Given the description of an element on the screen output the (x, y) to click on. 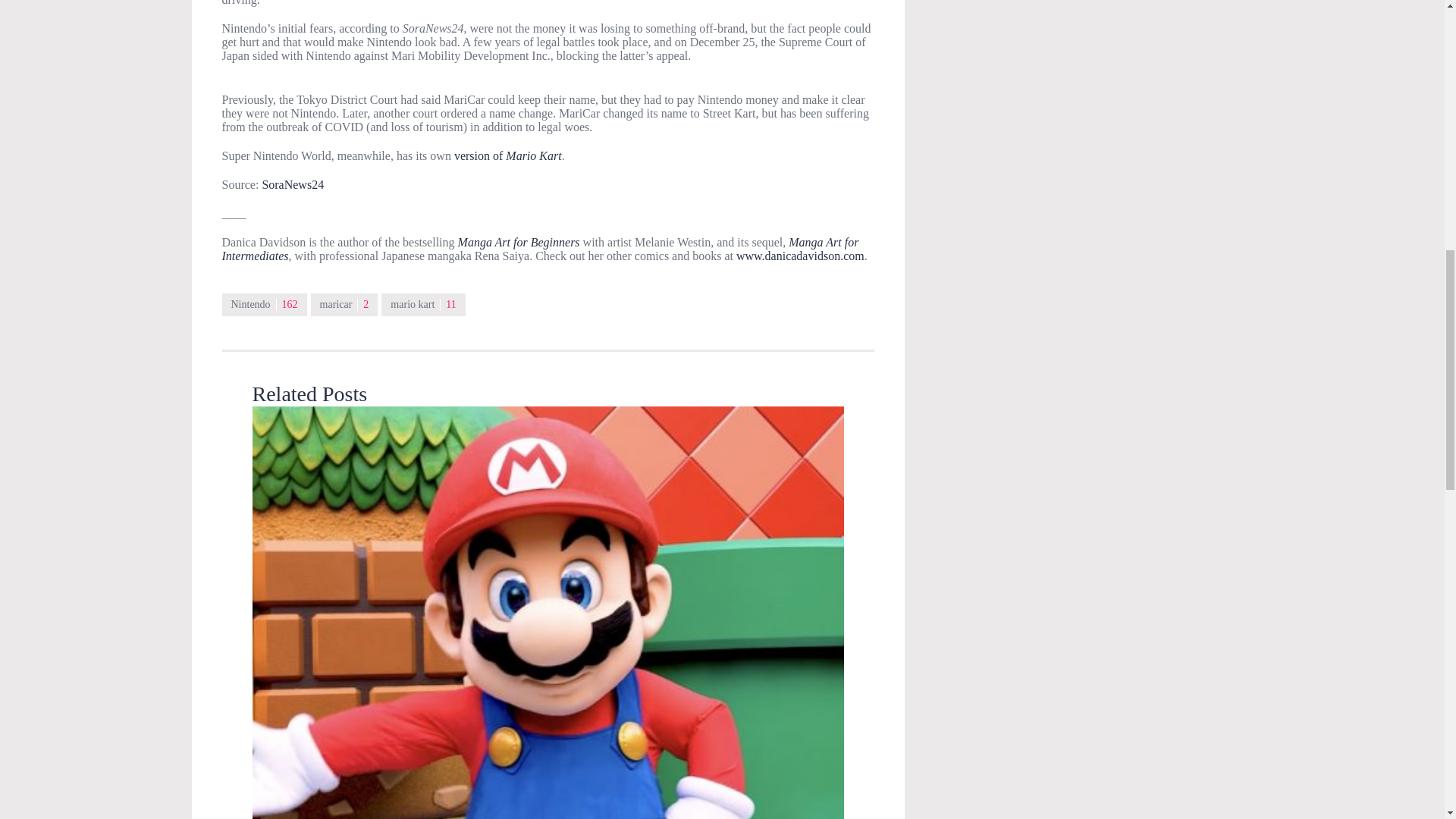
SoraNews24 (292, 184)
Manga Art for Beginners (520, 241)
version of Mario Kart (508, 155)
Nintendo 162 (263, 304)
Manga Art for Intermediates (540, 248)
maricar 2 (344, 304)
www.danicadavidson.com (800, 255)
